Given the description of an element on the screen output the (x, y) to click on. 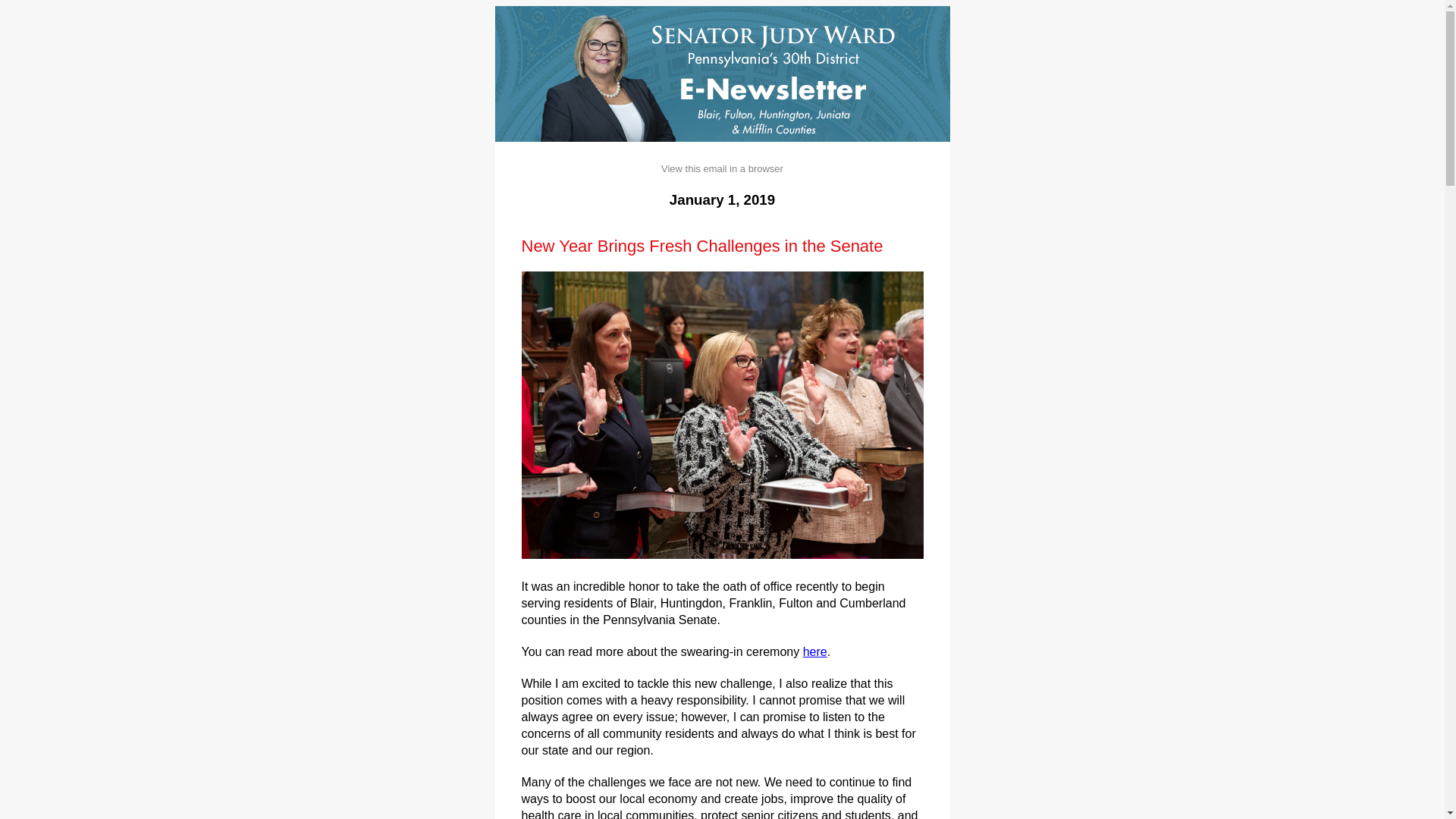
here (815, 651)
View this email in a browser (722, 168)
